Given the description of an element on the screen output the (x, y) to click on. 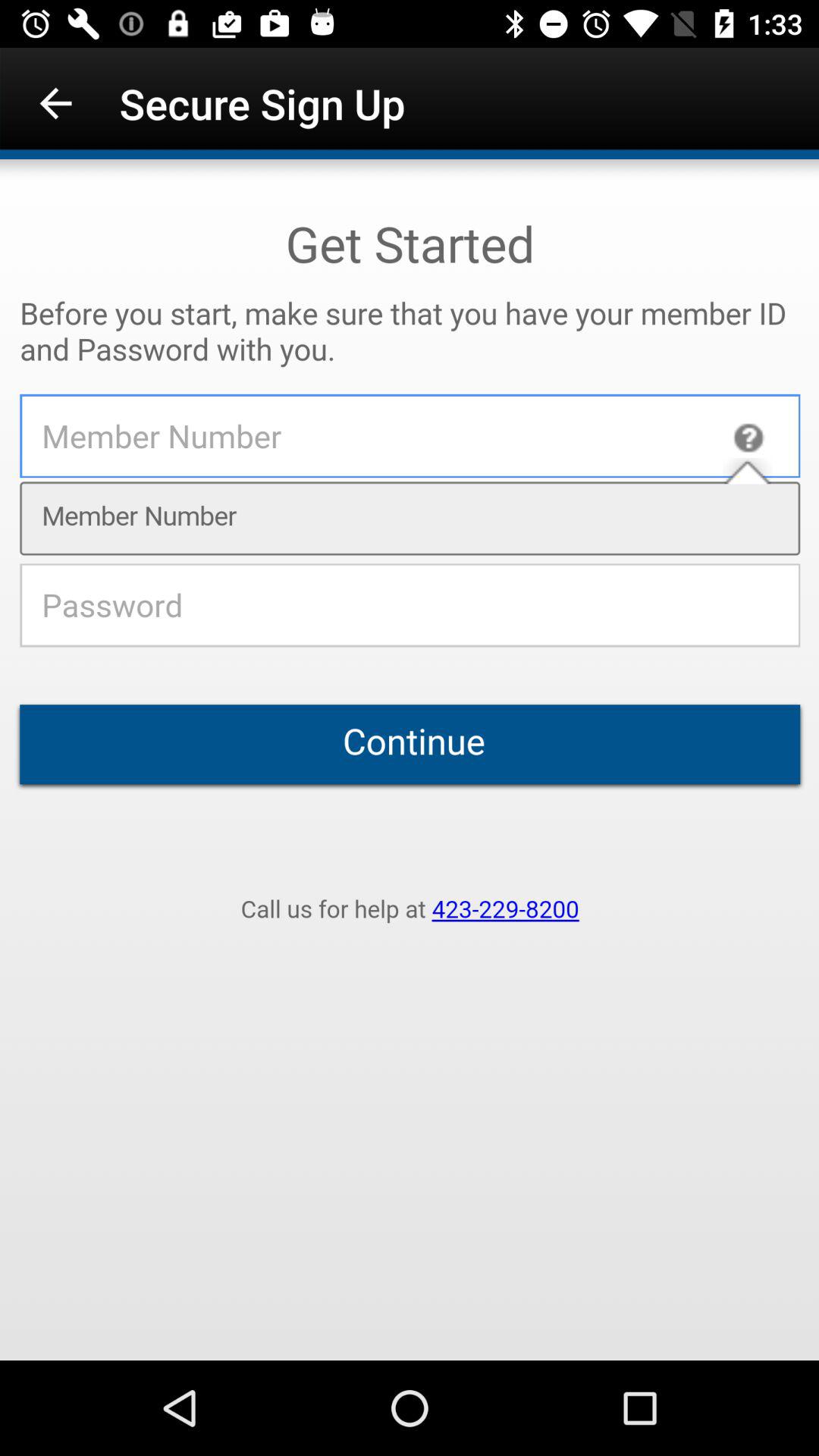
sign in details (409, 759)
